Given the description of an element on the screen output the (x, y) to click on. 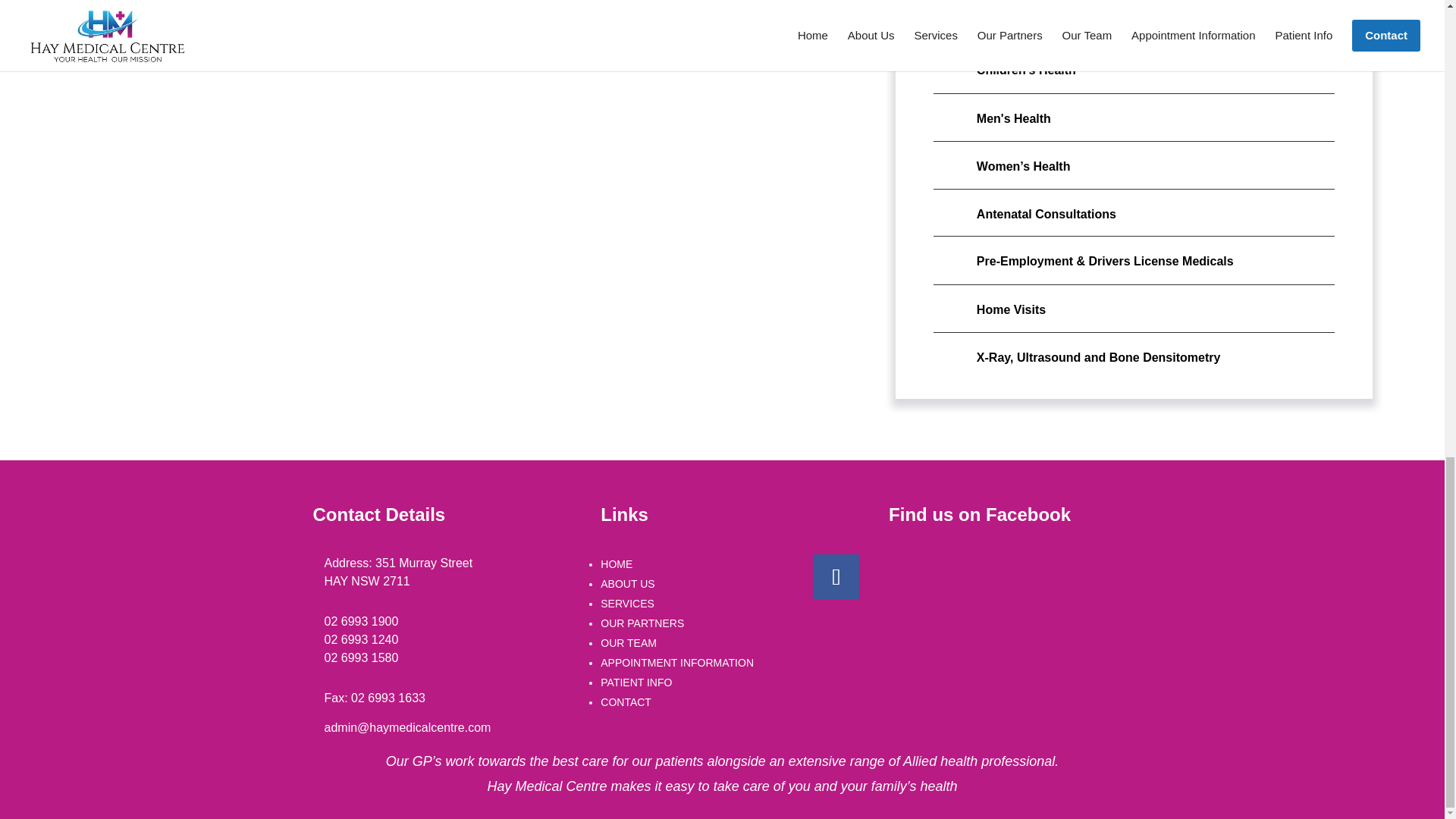
APPOINTMENT INFORMATION (676, 662)
02 6993 1240 (361, 639)
OUR TEAM (627, 643)
ABOUT US (626, 583)
02 6993 1900 (361, 621)
PATIENT INFO (635, 682)
HOME (615, 563)
OUR PARTNERS (641, 623)
CONTACT (624, 702)
02 6993 1580 (361, 657)
SERVICES (626, 603)
Follow on Facebook (835, 576)
